Given the description of an element on the screen output the (x, y) to click on. 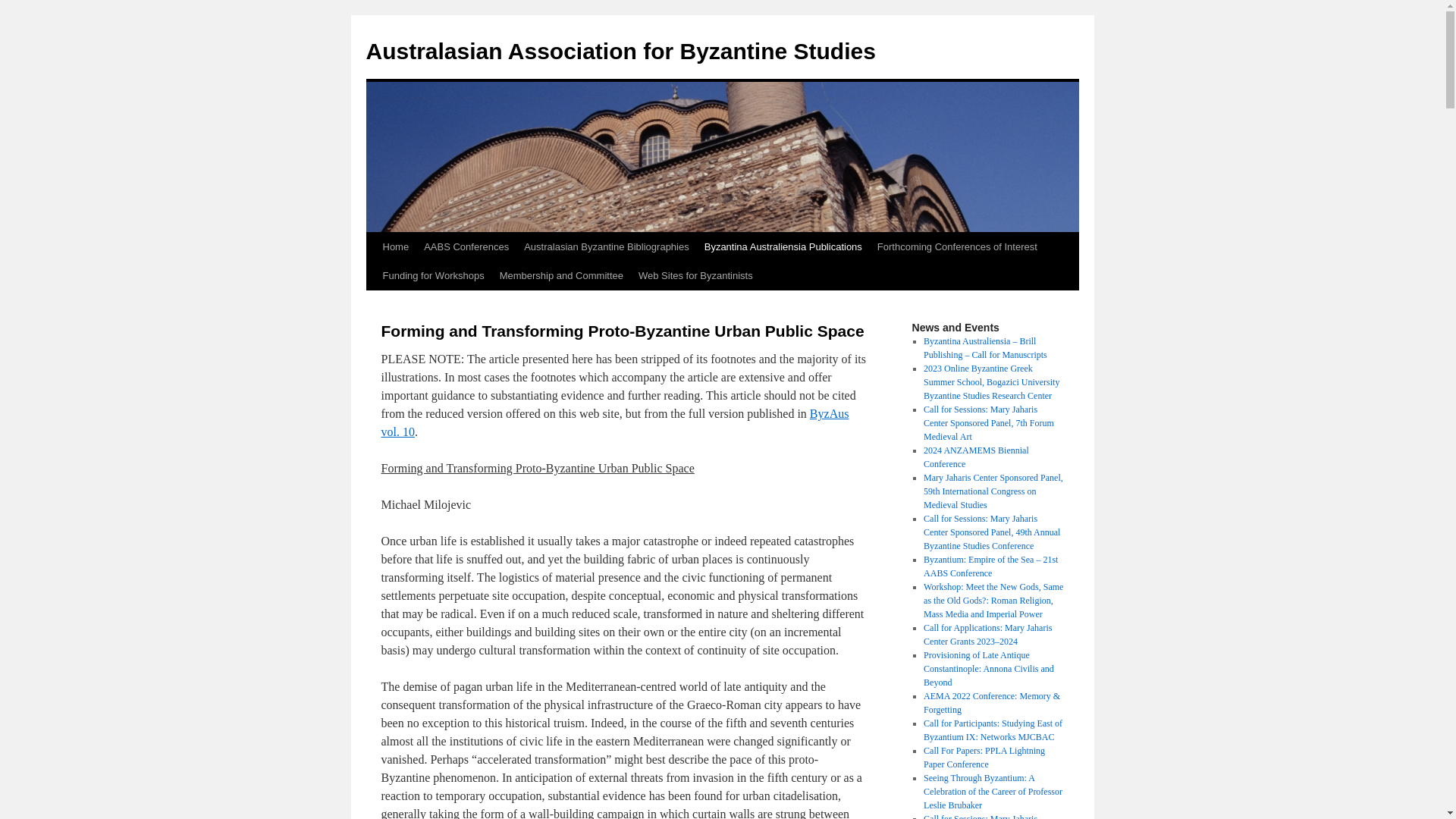
AEMA 2022 Conference: Memory & Forgetting Element type: text (991, 702)
Forthcoming Conferences of Interest Element type: text (956, 246)
Australasian Byzantine Bibliographies Element type: text (606, 246)
Membership and Committee Element type: text (561, 275)
Web Sites for Byzantinists Element type: text (695, 275)
Australasian Association for Byzantine Studies Element type: text (620, 50)
Byzantina Australiensia Publications Element type: text (782, 246)
ByzAus vol. 10 Element type: text (614, 422)
Call For Papers: PPLA Lightning Paper Conference Element type: text (983, 757)
Home Element type: text (395, 246)
Funding for Workshops Element type: text (432, 275)
2024 ANZAMEMS Biennial Conference Element type: text (976, 457)
AABS Conferences Element type: text (466, 246)
